Given the description of an element on the screen output the (x, y) to click on. 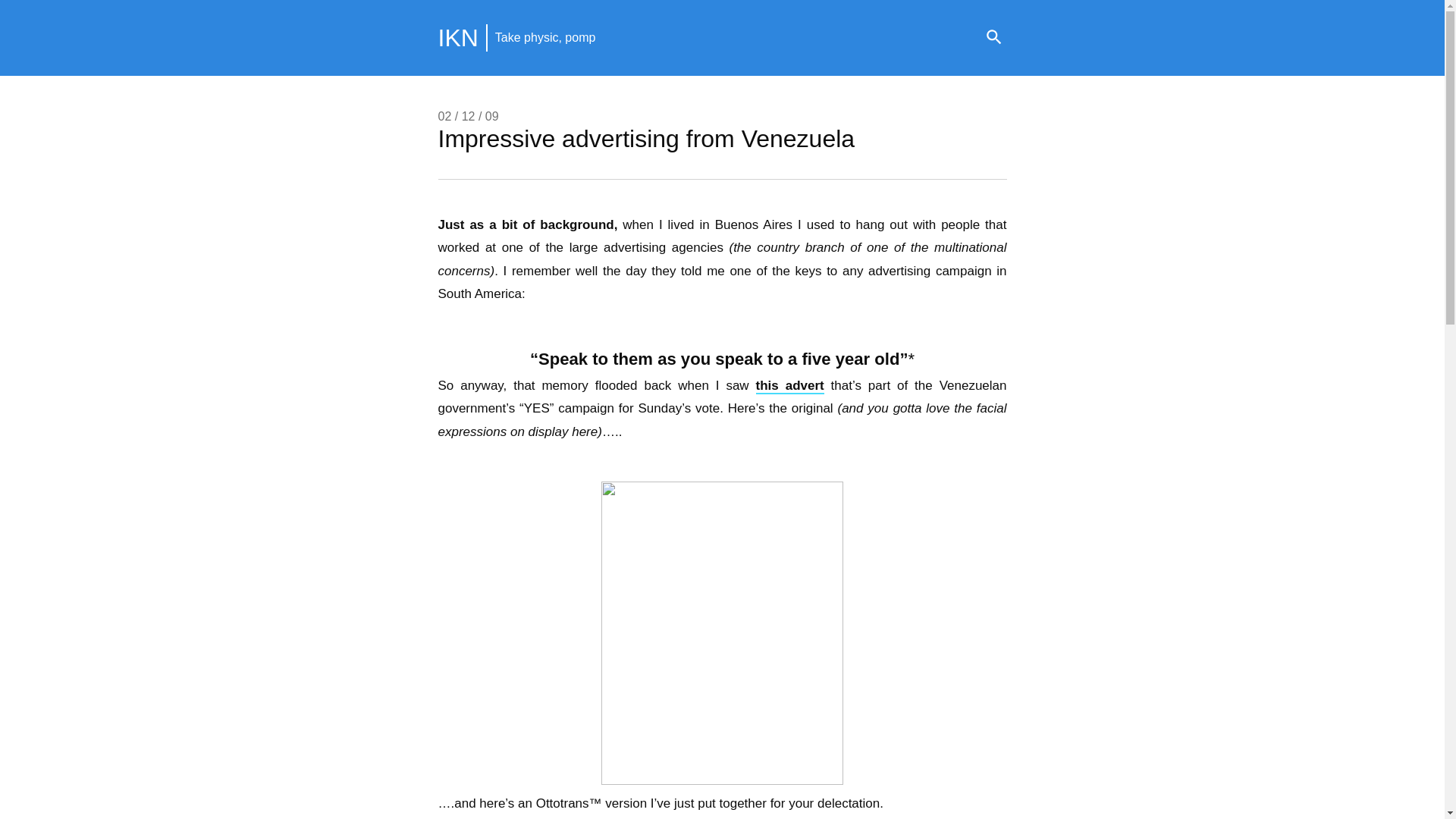
IKN (458, 37)
Impressive advertising from Venezuela (647, 138)
this advert (789, 385)
Search (993, 37)
